Given the description of an element on the screen output the (x, y) to click on. 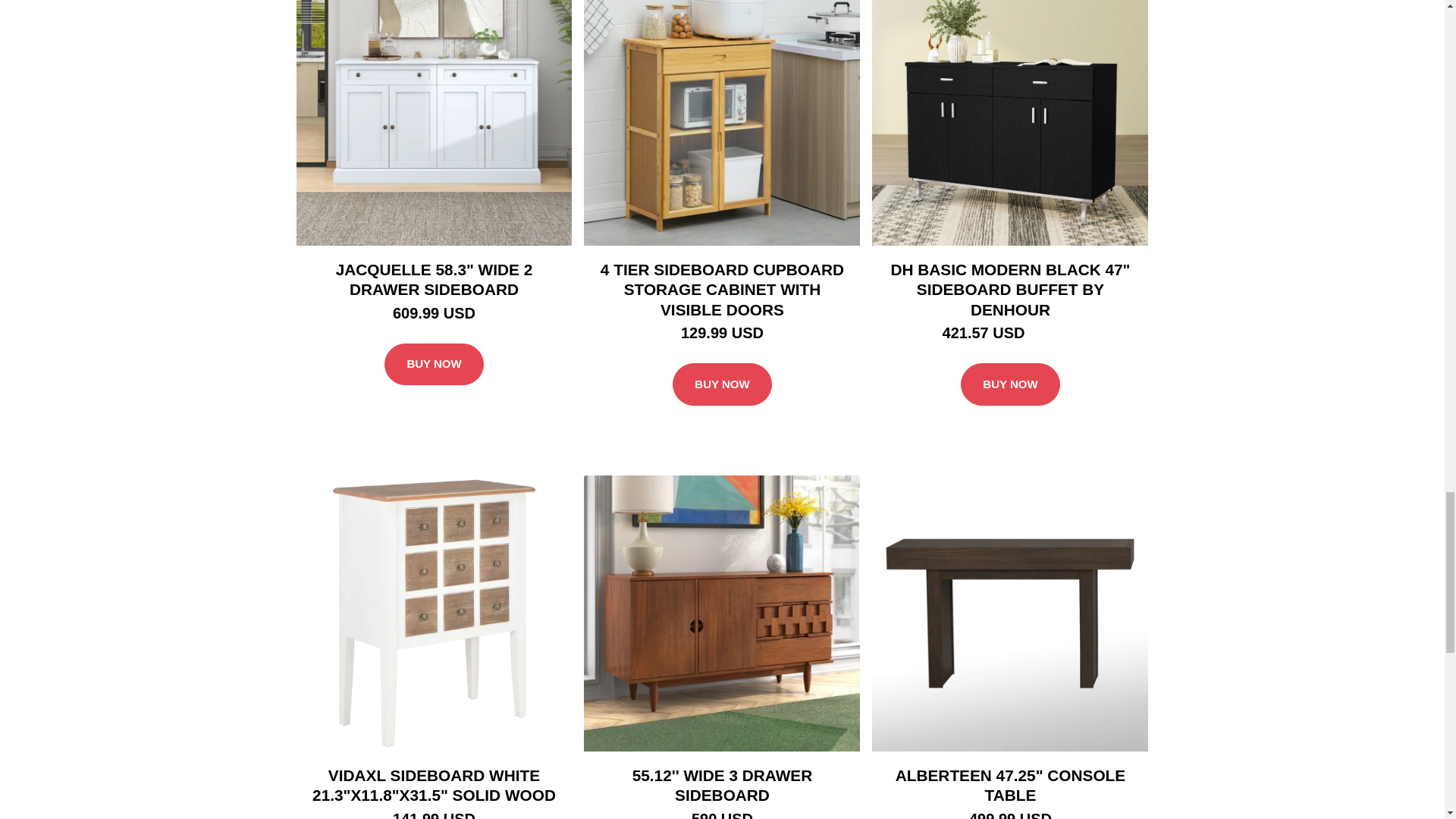
BUY NOW (721, 384)
JACQUELLE 58.3" WIDE 2 DRAWER SIDEBOARD (434, 279)
BUY NOW (433, 364)
4 TIER SIDEBOARD CUPBOARD STORAGE CABINET WITH VISIBLE DOORS (721, 289)
